Given the description of an element on the screen output the (x, y) to click on. 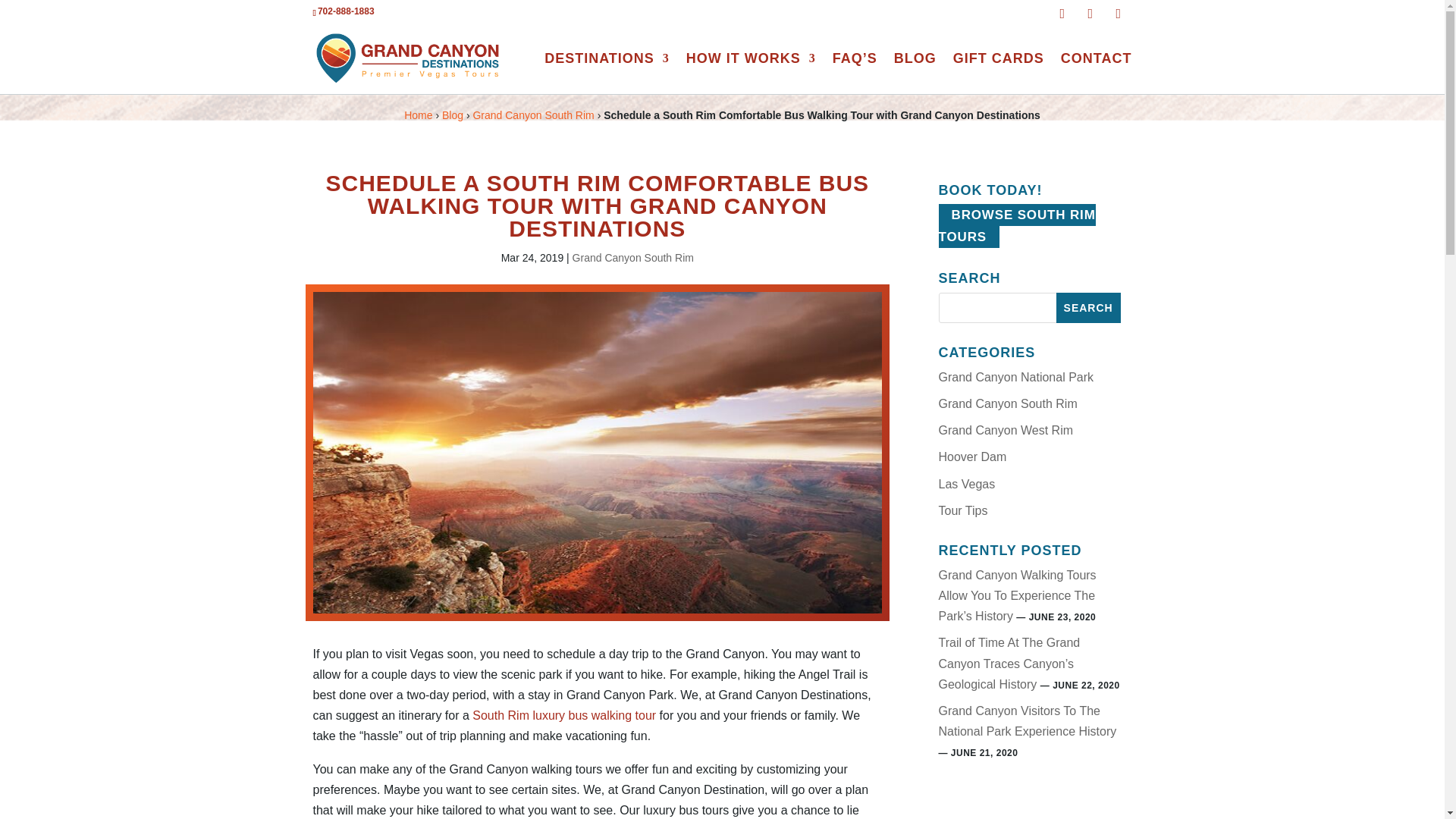
CONTACT (1096, 73)
BLOG (914, 73)
Instagram (1123, 14)
DESTINATIONS (606, 73)
Twitter (1095, 14)
Facebook (1066, 14)
702-888-1883 (345, 10)
Instagram (1123, 14)
Twitter (1095, 14)
Facebook (1066, 14)
